Given the description of an element on the screen output the (x, y) to click on. 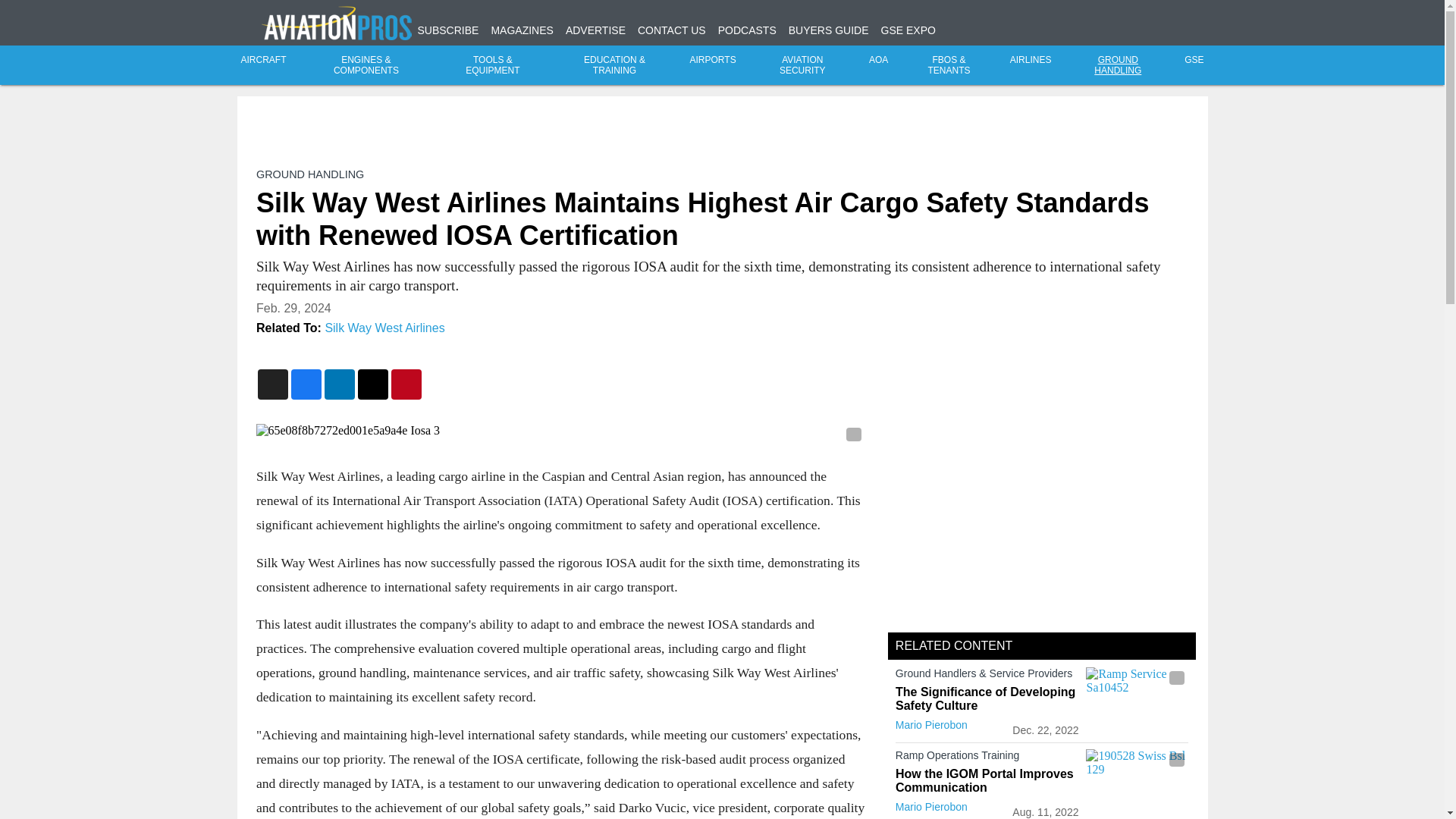
Ramp Service Sa10452 (1137, 695)
PODCASTS (746, 30)
MAGAZINES (521, 30)
Ramp Operations Training (986, 758)
BUYERS GUIDE (829, 30)
Silk Way West Airlines (384, 327)
GSE EXPO (908, 30)
AVIATION SECURITY (801, 65)
65e08f8b7272ed001e5a9a4e Iosa 3 (560, 430)
GROUND HANDLING (1117, 65)
GROUND HANDLING (310, 174)
The Significance of Developing Safety Culture (986, 698)
How the IGOM Portal Improves Communication (986, 780)
AOA (878, 59)
ADVERTISE (596, 30)
